Given the description of an element on the screen output the (x, y) to click on. 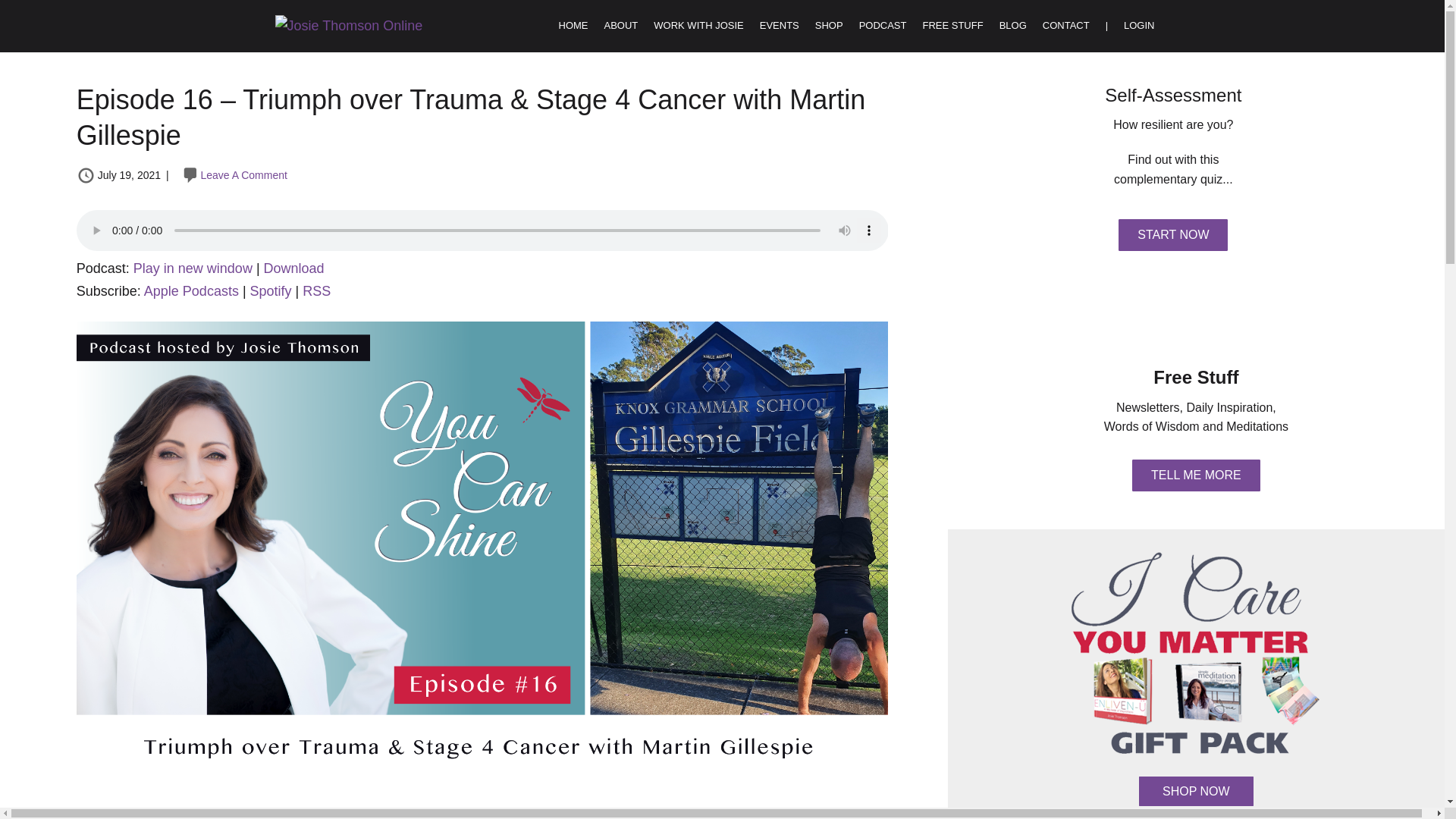
LOGIN (1138, 26)
BLOG (1012, 26)
Download (293, 268)
Subscribe on Apple Podcasts (191, 290)
Subscribe on Spotify (271, 290)
EVENTS (779, 26)
Play in new window (192, 268)
Download (293, 268)
Play in new window (192, 268)
RSS (316, 290)
